Given the description of an element on the screen output the (x, y) to click on. 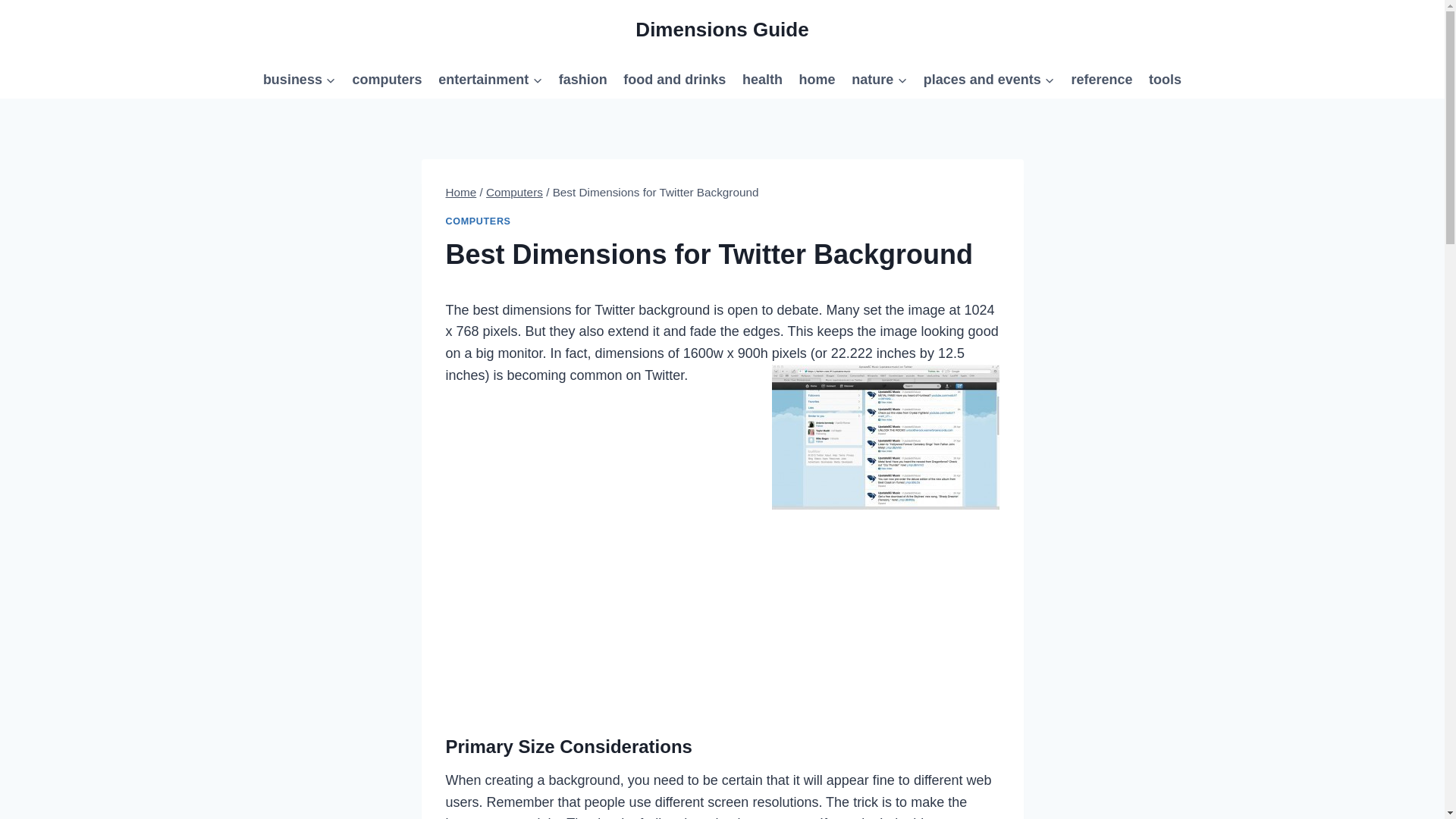
COMPUTERS (478, 221)
entertainment (489, 79)
fashion (582, 79)
computers (386, 79)
food and drinks (675, 79)
nature (879, 79)
reference (1101, 79)
Computers (514, 192)
business (298, 79)
home (817, 79)
